Given the description of an element on the screen output the (x, y) to click on. 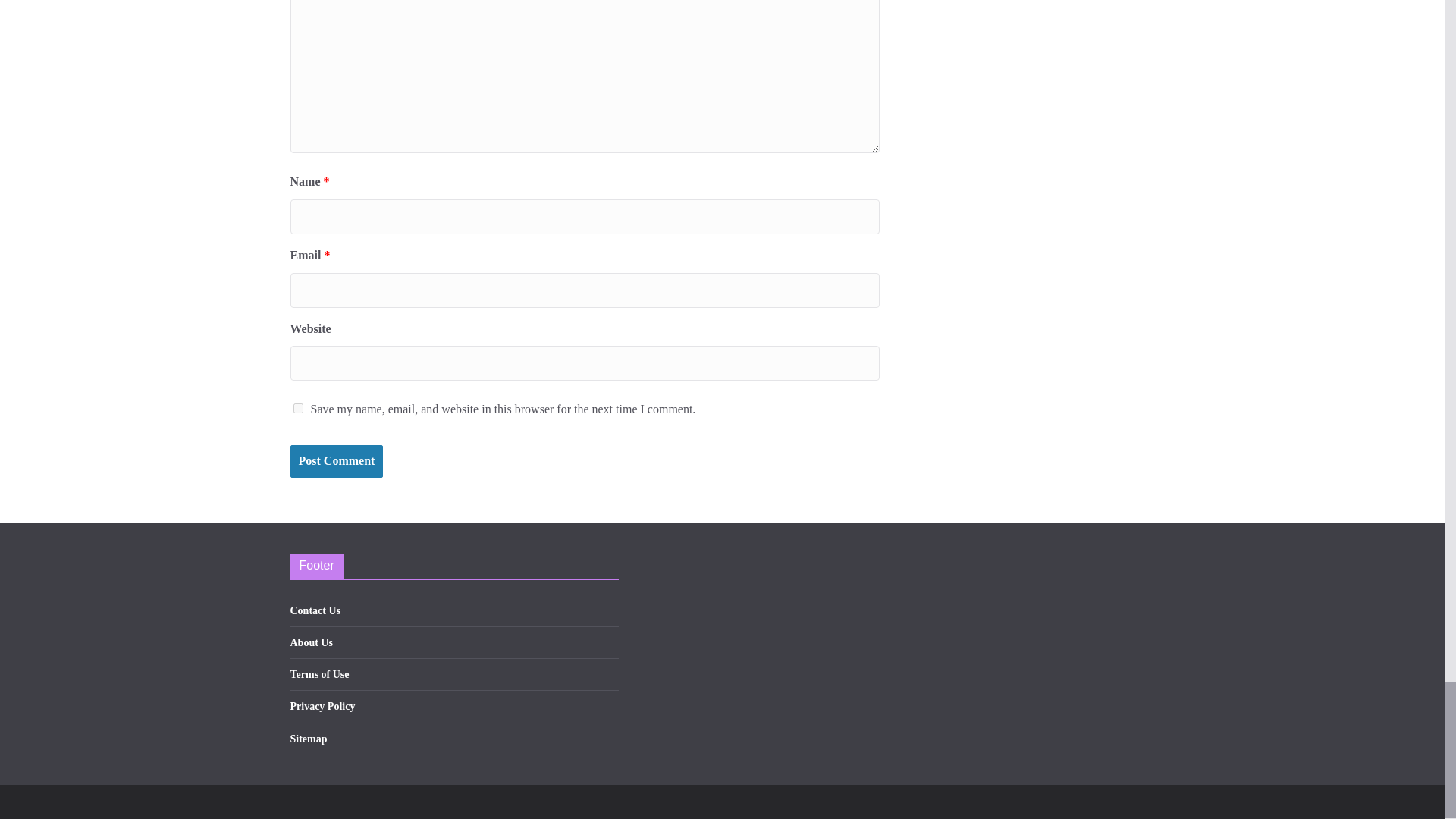
yes (297, 408)
Post Comment (335, 461)
Post Comment (335, 461)
